Given the description of an element on the screen output the (x, y) to click on. 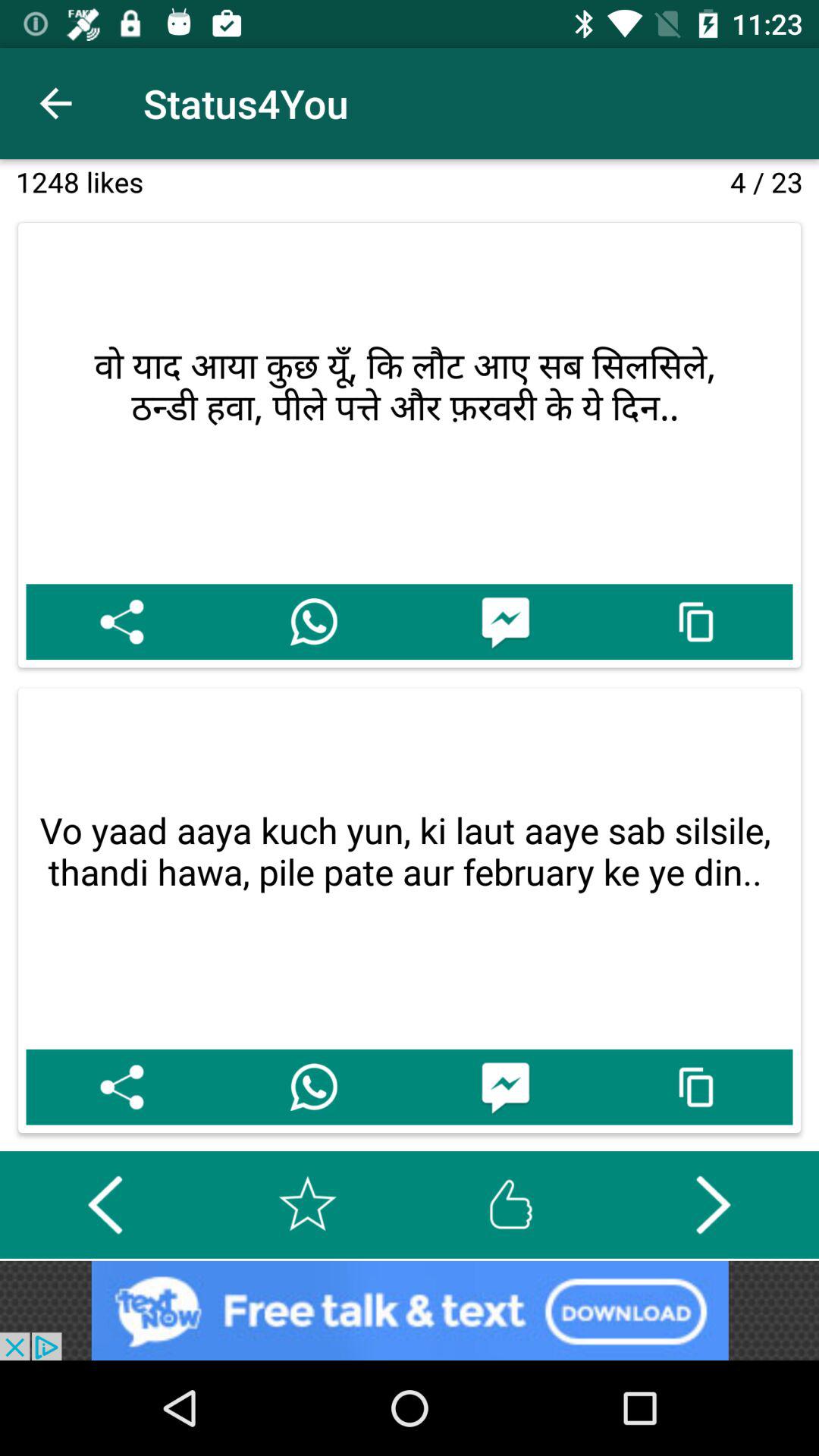
advance next (713, 1204)
